Given the description of an element on the screen output the (x, y) to click on. 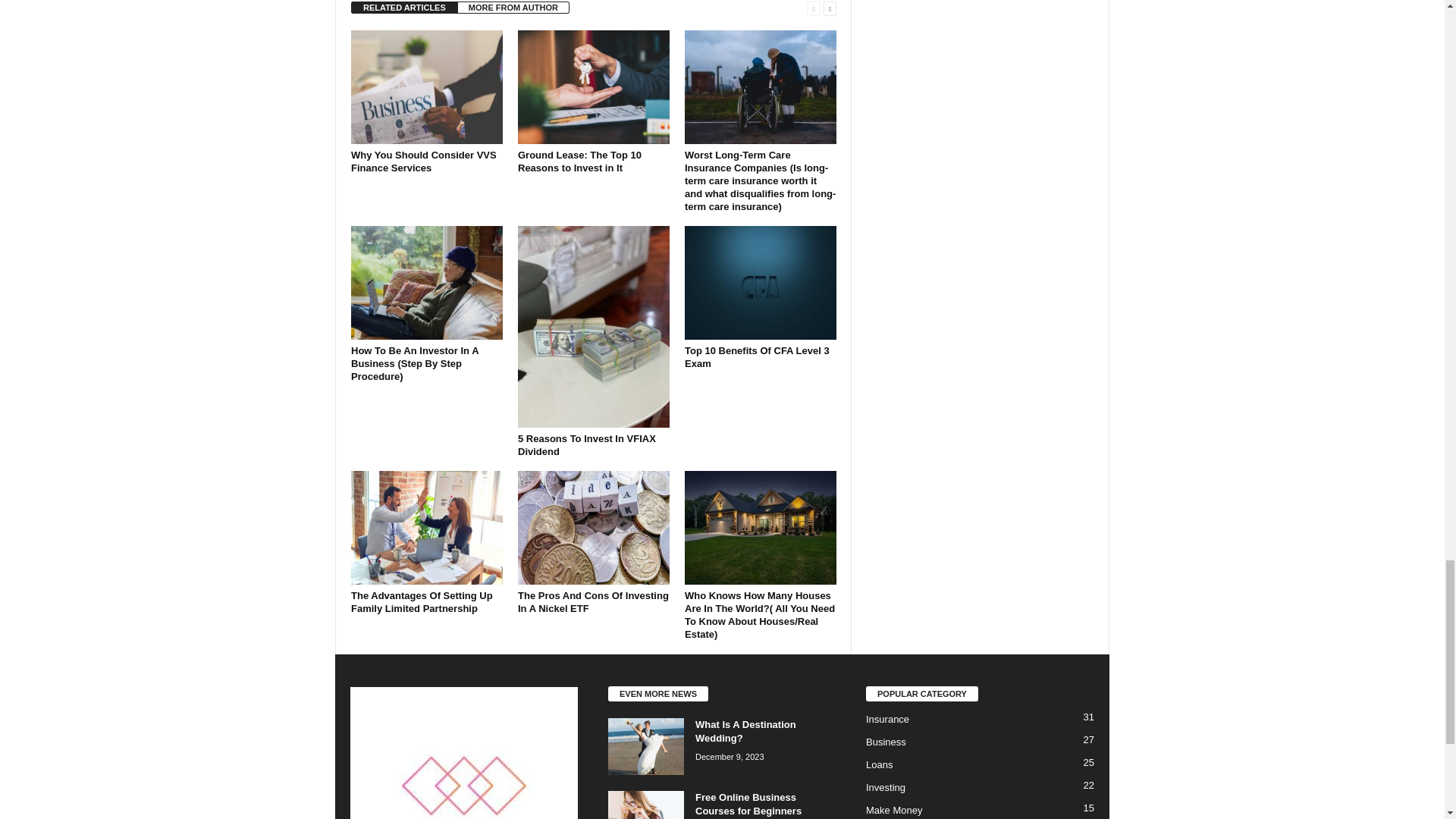
Ground Lease: The Top 10 Reasons to Invest in It (580, 161)
Ground Lease: The Top 10 Reasons to Invest in It (593, 87)
Why You Should Consider VVS Finance Services (426, 87)
Why You Should Consider VVS Finance Services (423, 161)
